Given the description of an element on the screen output the (x, y) to click on. 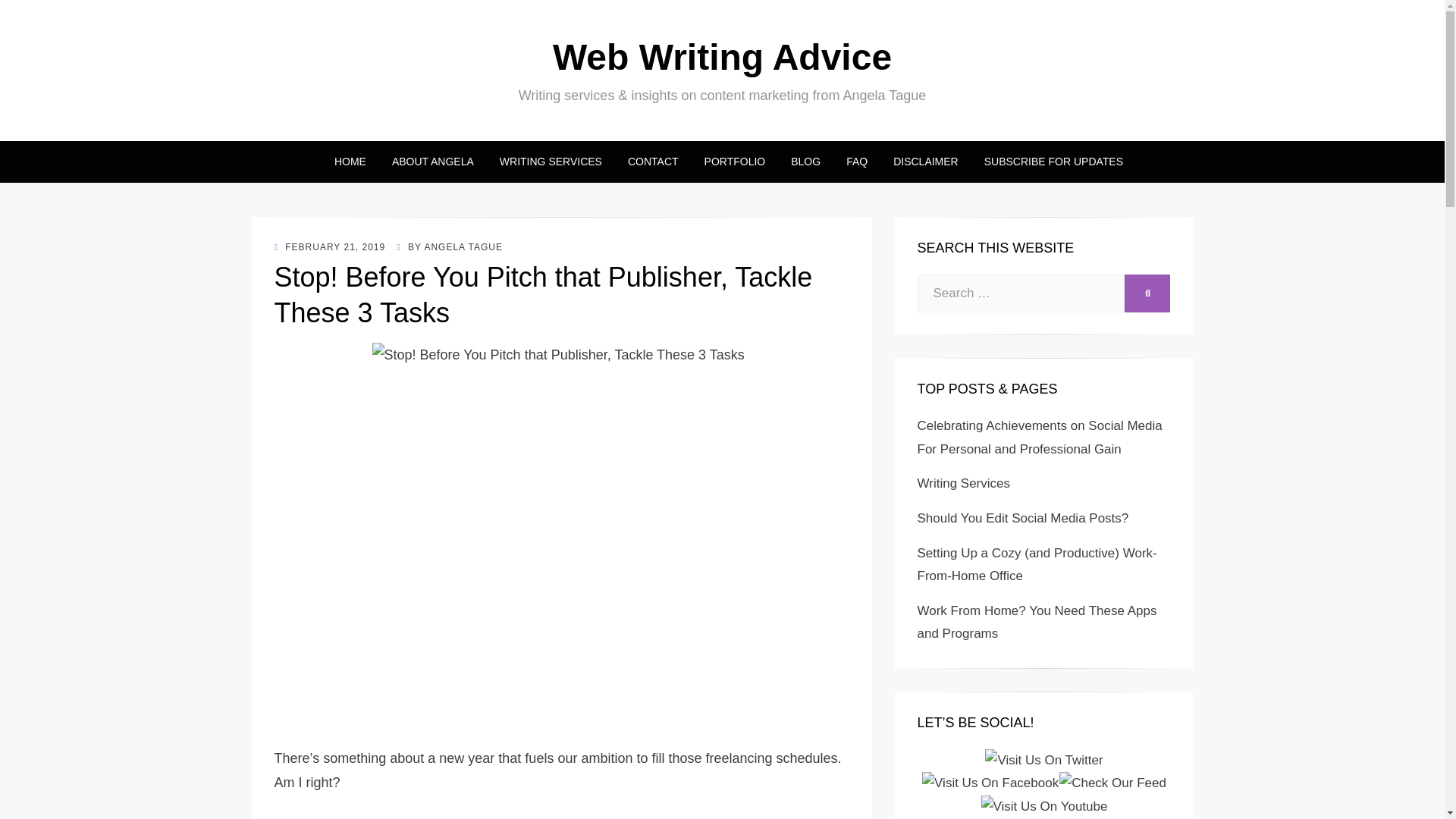
HOME (349, 161)
FAQ (856, 161)
ABOUT ANGELA (432, 161)
Web Writing Advice (722, 56)
FEBRUARY 21, 2019 (330, 246)
WRITING SERVICES (550, 161)
SUBSCRIBE FOR UPDATES (1046, 161)
BLOG (804, 161)
DISCLAIMER (925, 161)
ANGELA TAGUE (462, 246)
